Given the description of an element on the screen output the (x, y) to click on. 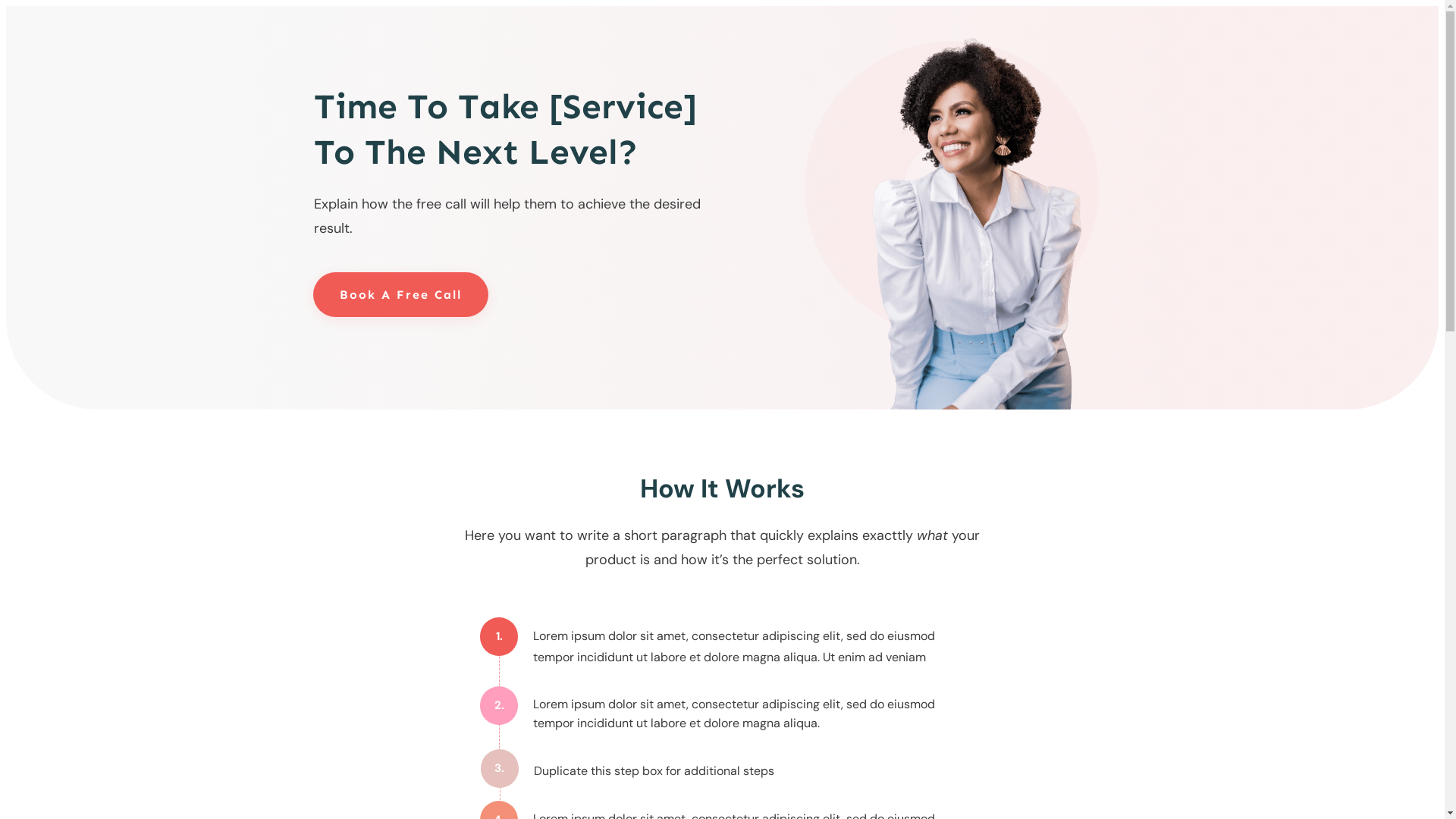
Book A Free Call Element type: text (399, 294)
Ommi_Woman-Portrait Element type: hover (977, 222)
